Given the description of an element on the screen output the (x, y) to click on. 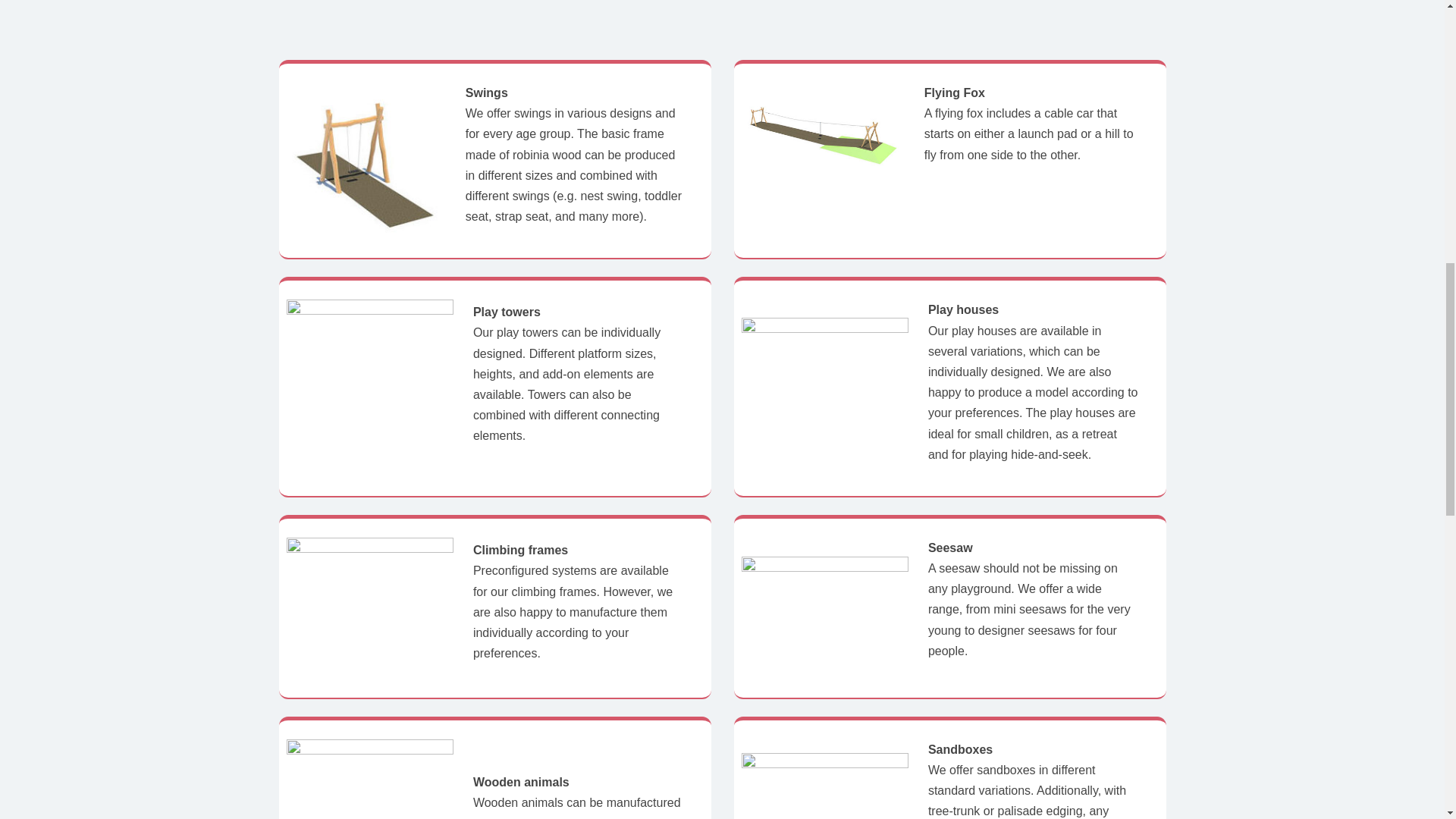
Scroll back to top (1406, 720)
